Given the description of an element on the screen output the (x, y) to click on. 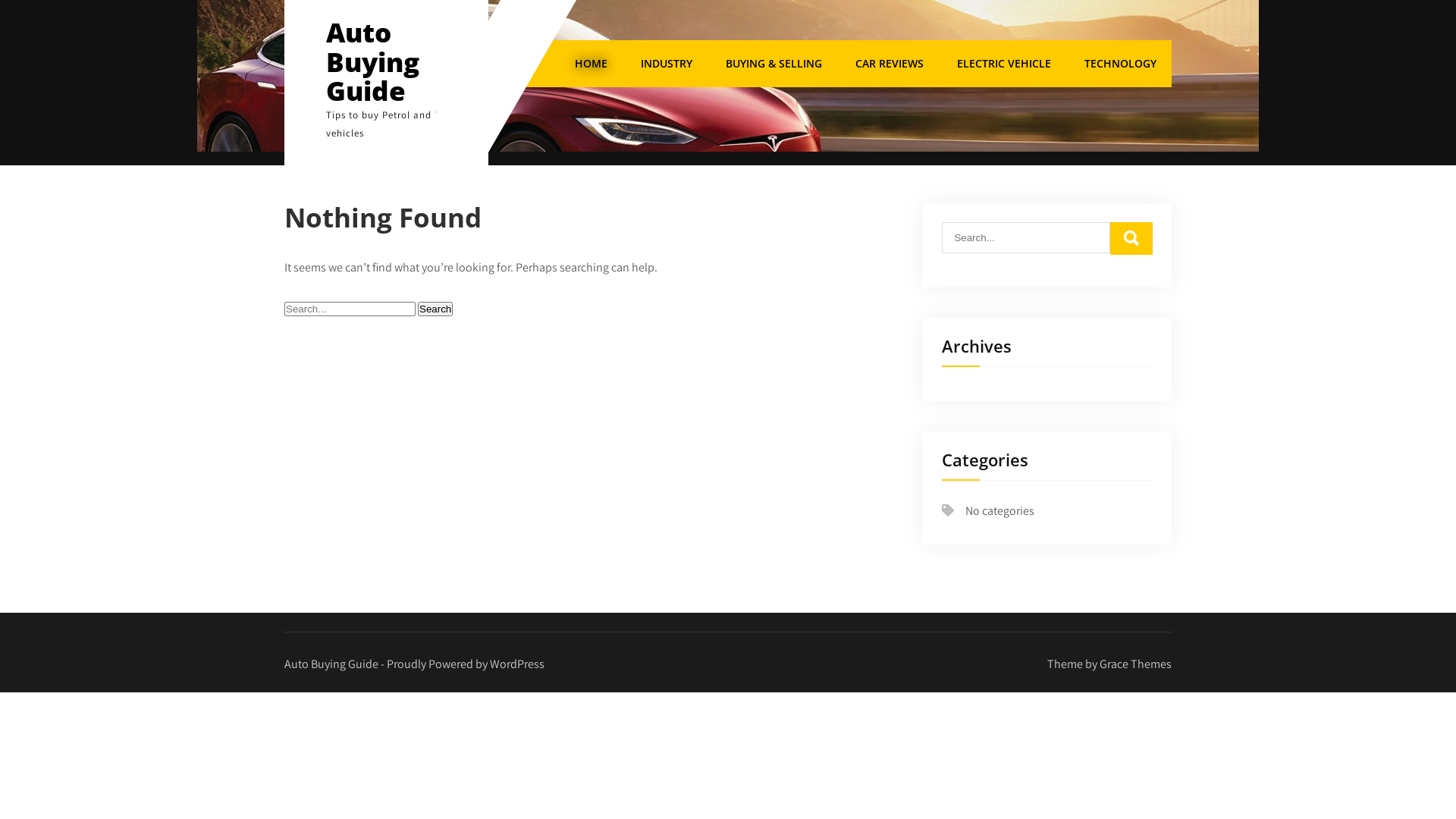
Search Element type: text (1131, 237)
CAR REVIEWS Element type: text (889, 63)
Auto Buying Guide Element type: text (372, 61)
ELECTRIC VEHICLE Element type: text (1003, 63)
Search Element type: text (434, 308)
TECHNOLOGY Element type: text (1120, 63)
INDUSTRY Element type: text (666, 63)
BUYING & SELLING Element type: text (773, 63)
HOME Element type: text (590, 63)
